Given the description of an element on the screen output the (x, y) to click on. 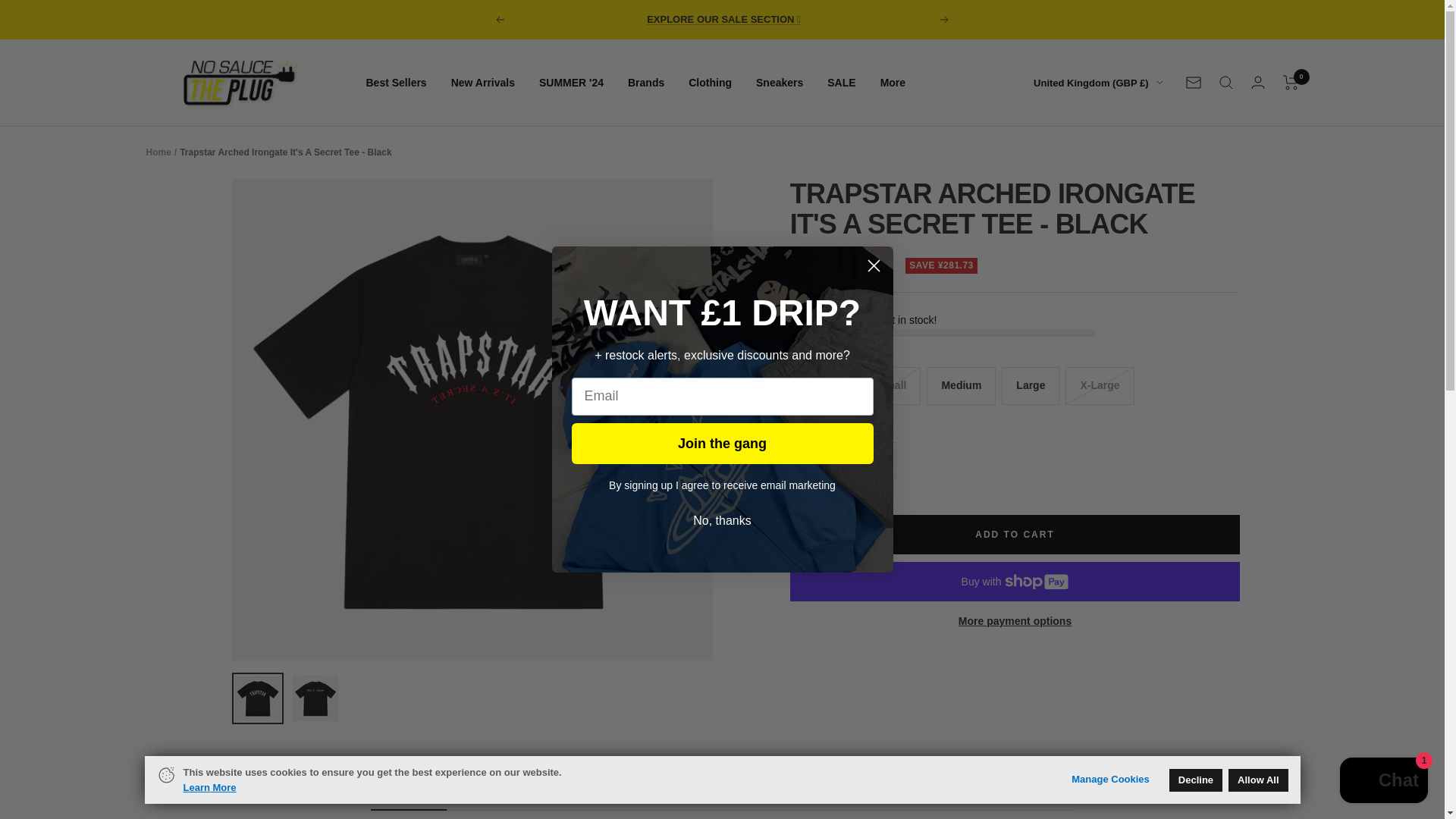
More (892, 82)
AZ (1013, 465)
Shopify online store chat (1383, 781)
AL (1013, 180)
AO (1013, 251)
AI (1013, 275)
BJ (1013, 655)
BZ (1013, 631)
Next (944, 19)
Clothing (710, 82)
Sneakers (779, 82)
New Arrivals (483, 82)
AX (1013, 157)
